Given the description of an element on the screen output the (x, y) to click on. 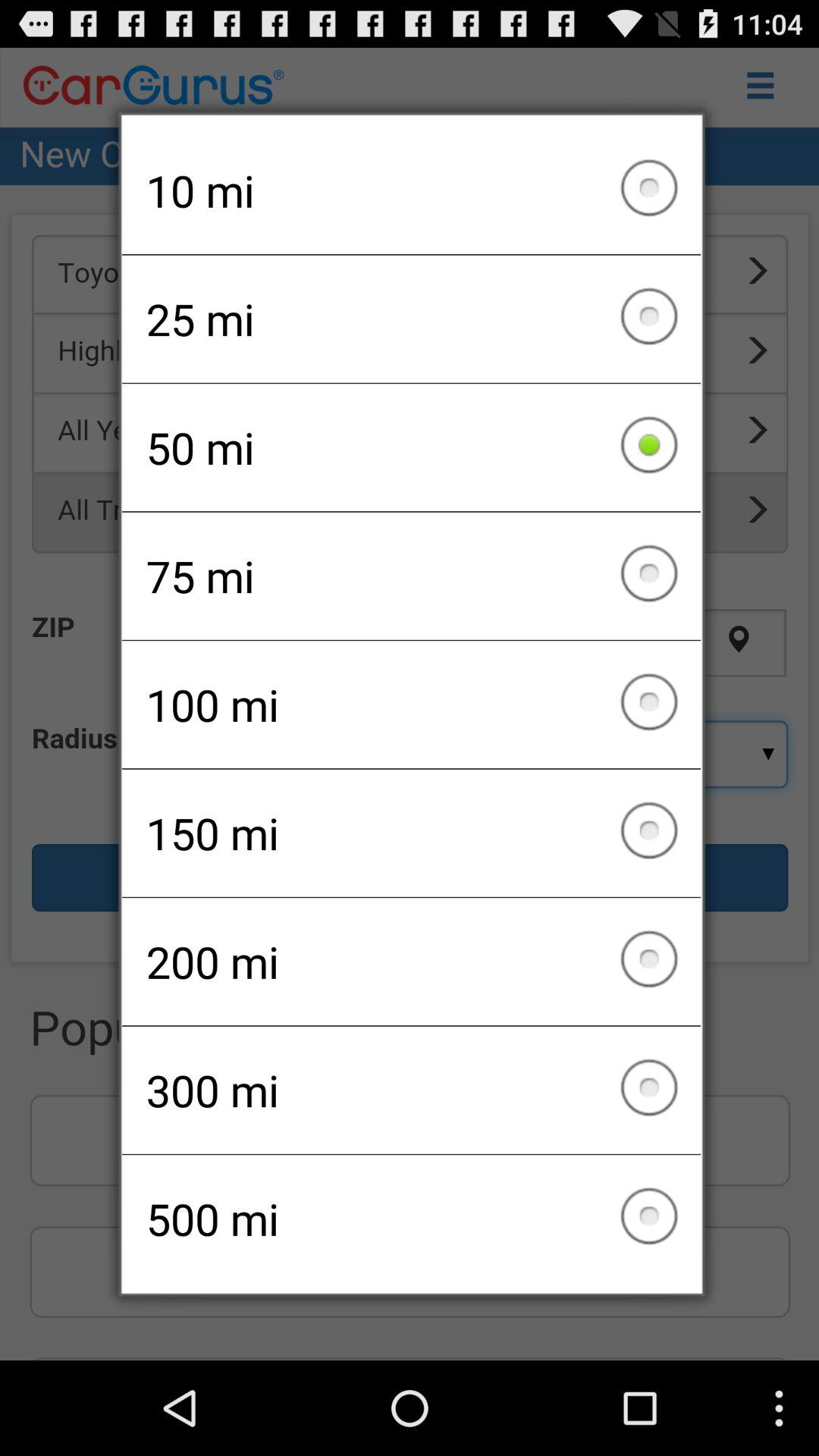
click 25 mi checkbox (411, 318)
